Given the description of an element on the screen output the (x, y) to click on. 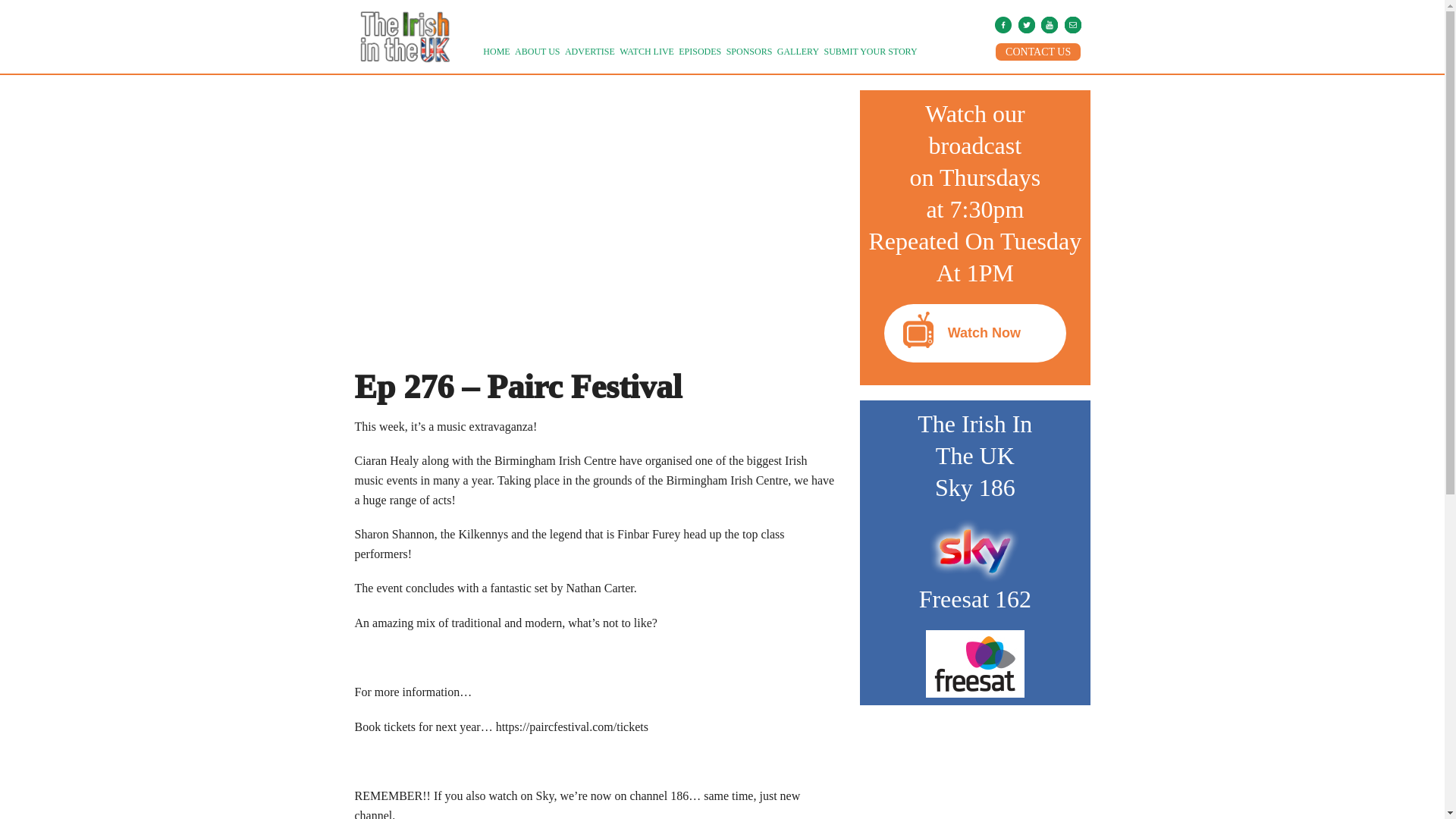
ADVERTISE (589, 51)
GALLERY (798, 51)
SPONSORS (748, 51)
Watch Now (974, 332)
EPISODES (700, 51)
WATCH LIVE (647, 51)
CONTACT US (1037, 51)
ABOUT US (537, 51)
HOME (496, 51)
SUBMIT YOUR STORY (870, 51)
